Given the description of an element on the screen output the (x, y) to click on. 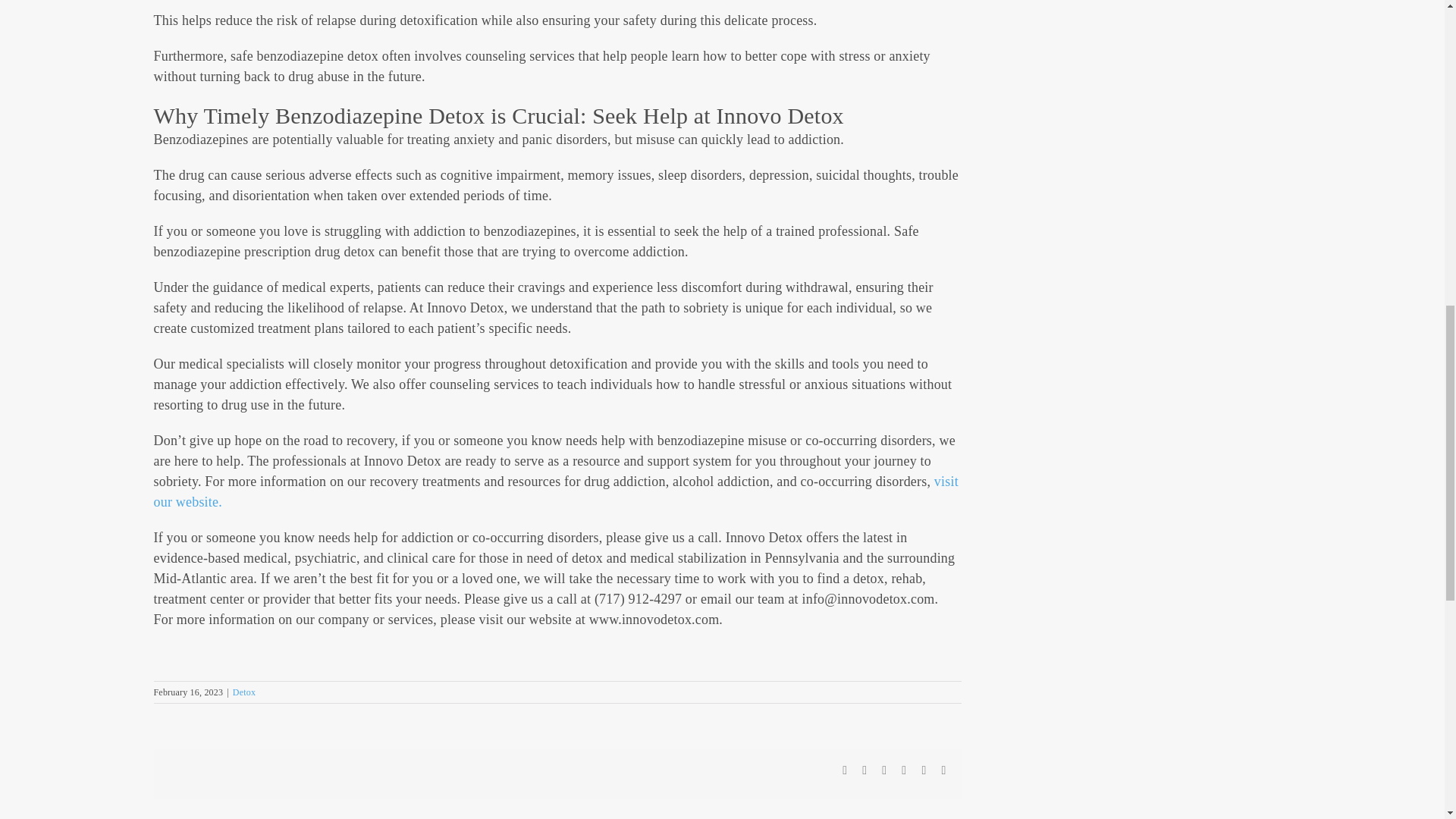
visit our website. (555, 491)
Detox (244, 692)
